Given the description of an element on the screen output the (x, y) to click on. 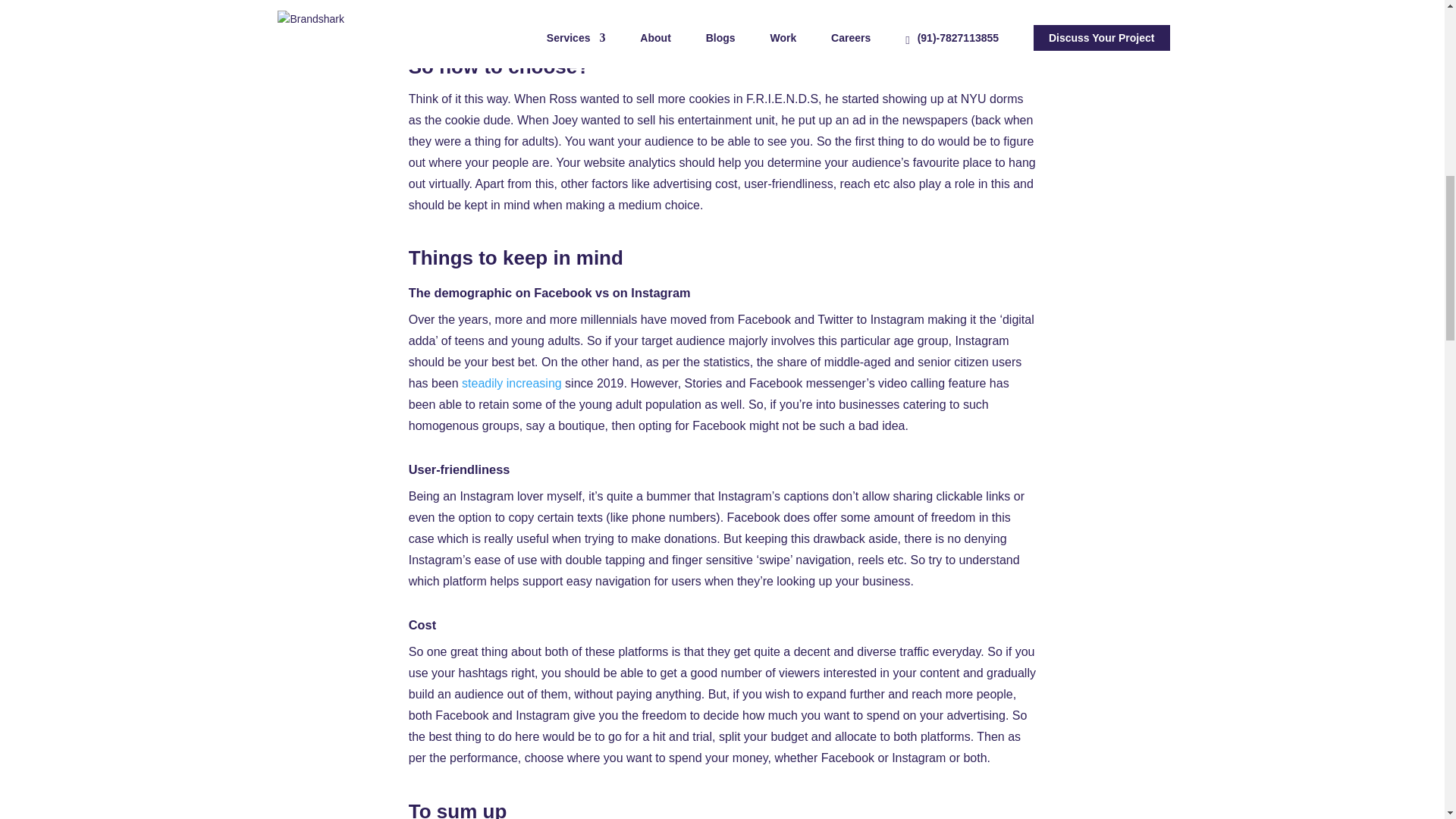
steadily increasing (511, 382)
3 To sum up (438, 27)
2.3 Cost (428, 9)
